Given the description of an element on the screen output the (x, y) to click on. 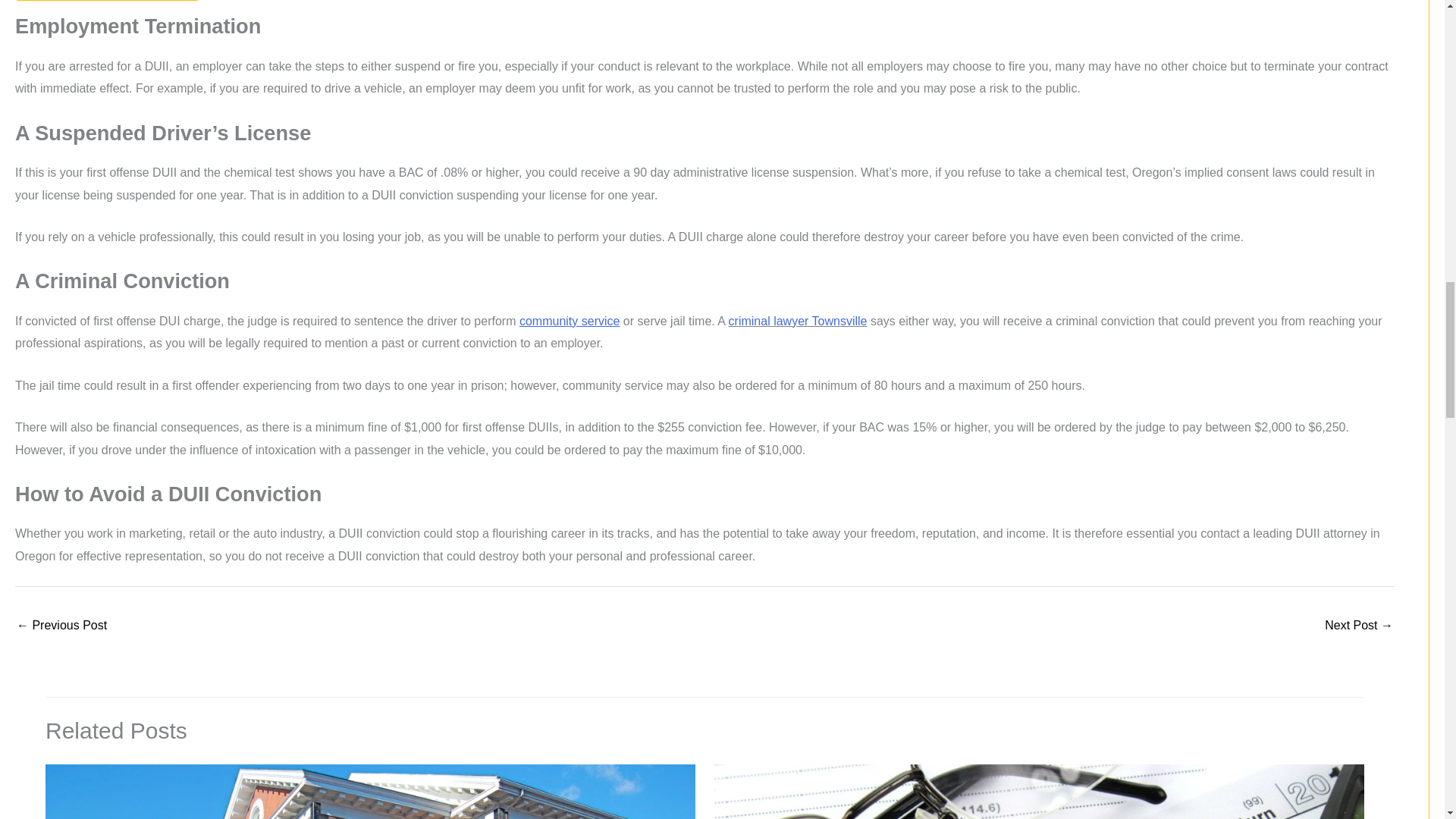
4 Ways You Can Take Your Love for Music to the Next Level (1358, 626)
criminal lawyer Townsville (798, 320)
Things to know before visiting the Arab world (61, 626)
community service (569, 320)
